Given the description of an element on the screen output the (x, y) to click on. 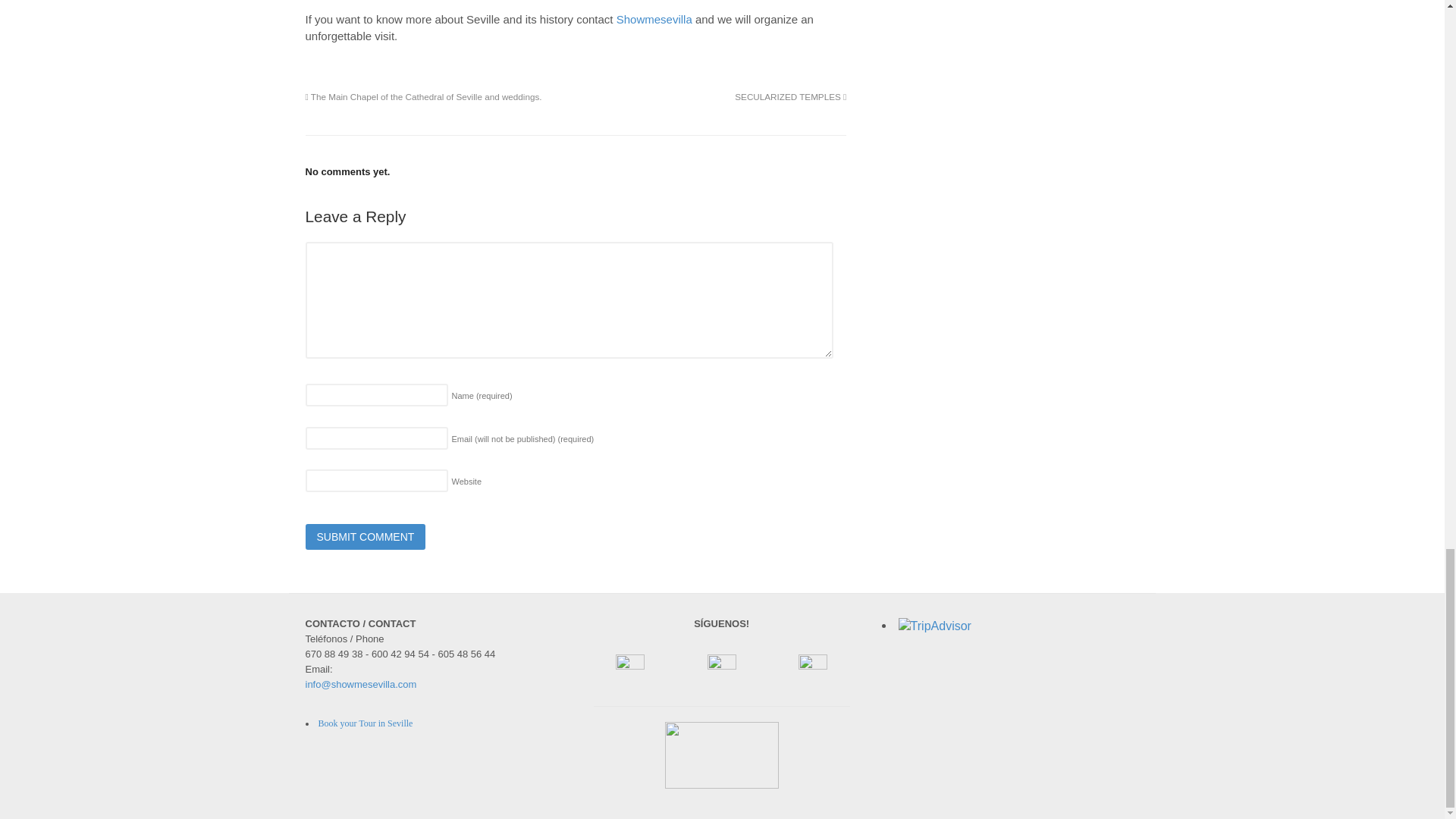
Submit Comment (364, 536)
Showmesevilla (654, 19)
Submit Comment (364, 536)
Book your Tour in Seville (365, 723)
SECULARIZED TEMPLES (790, 96)
The Main Chapel of the Cathedral of Seville and weddings. (422, 96)
